Given the description of an element on the screen output the (x, y) to click on. 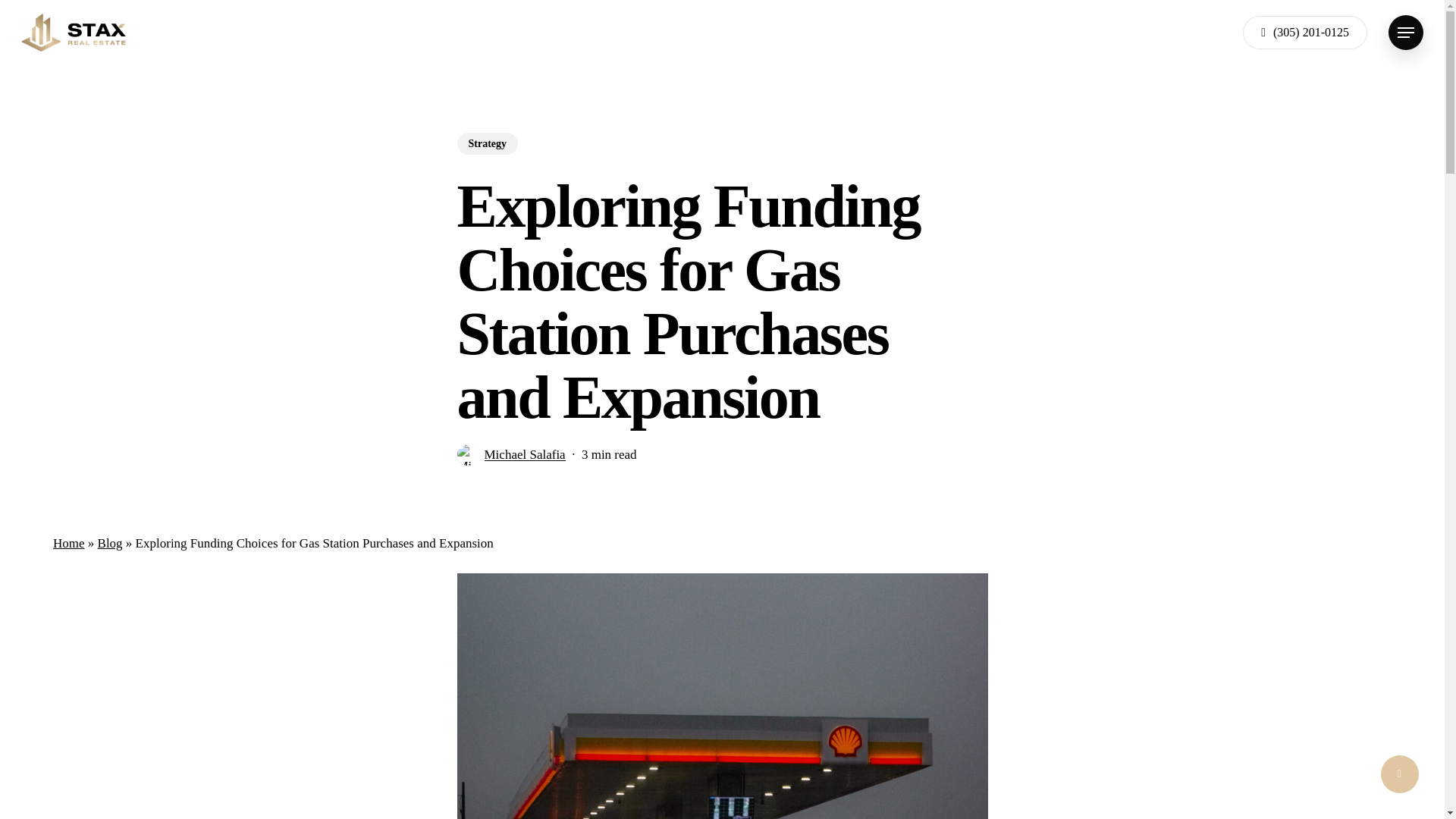
Strategy (487, 163)
Menu (1406, 32)
Blog (109, 543)
Posts by Michael Salafia (523, 454)
Home (68, 543)
